Given the description of an element on the screen output the (x, y) to click on. 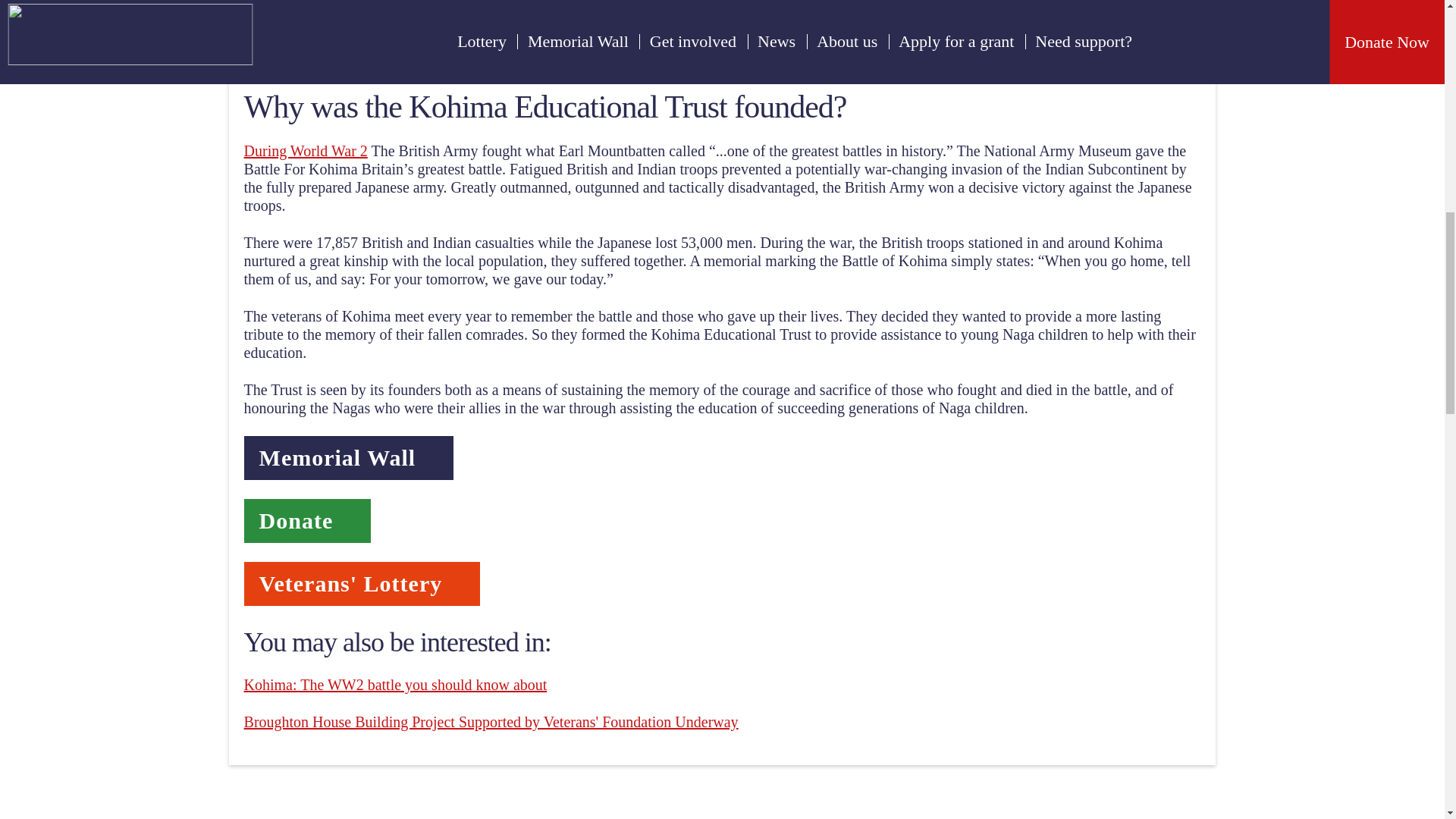
Donate (307, 523)
Join (362, 586)
Memorial Wall (349, 460)
